Given the description of an element on the screen output the (x, y) to click on. 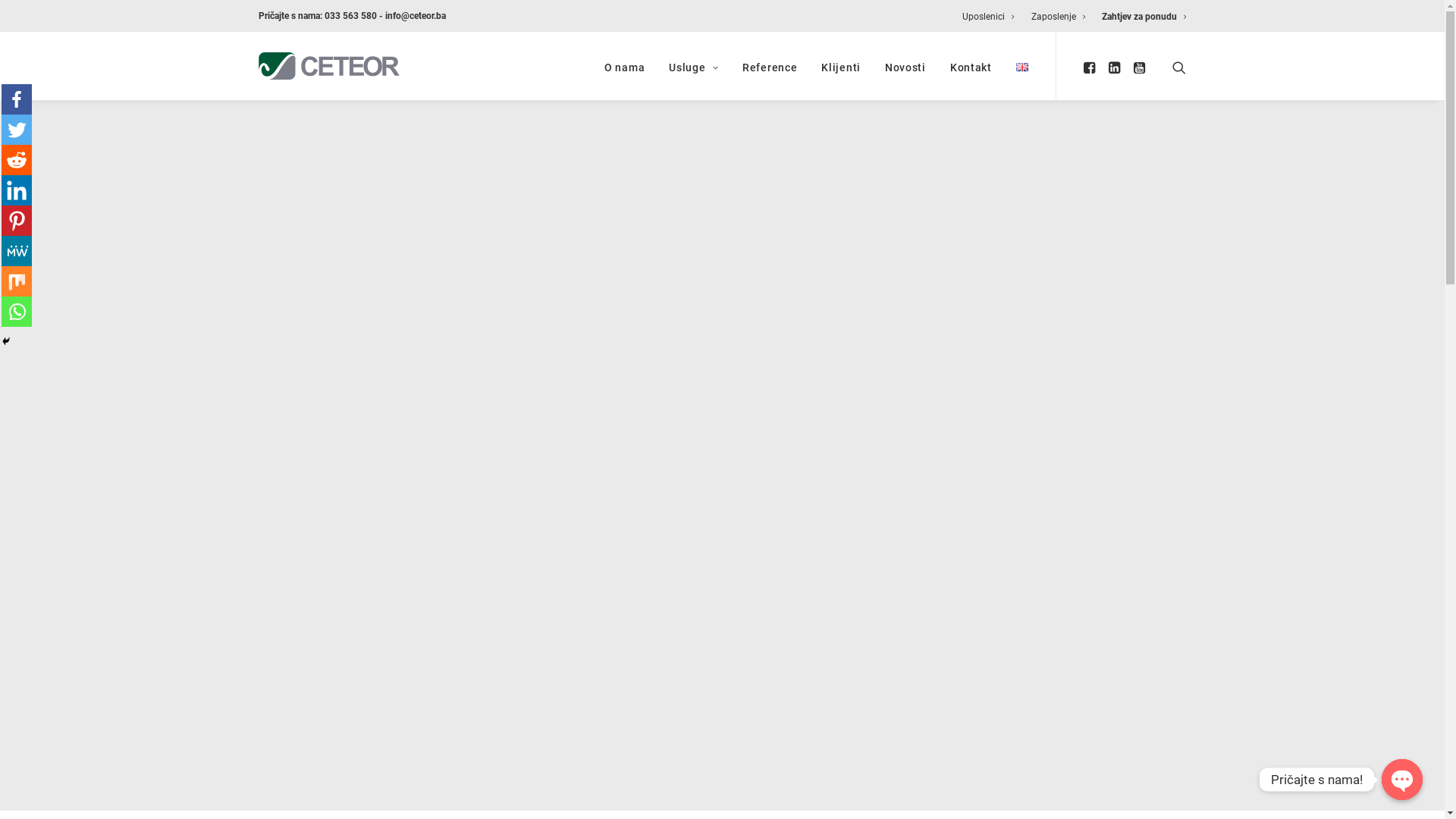
O nama Element type: text (624, 65)
Whatsapp Element type: hover (16, 311)
Mix Element type: hover (16, 281)
Usluge Element type: text (693, 65)
Kontakt Element type: text (970, 65)
Reference Element type: text (769, 65)
Twitter Element type: hover (16, 129)
Linkedin Element type: hover (16, 190)
Pinterest Element type: hover (16, 220)
Hide Element type: hover (6, 341)
Zaposlenje Element type: text (1058, 16)
MeWe Element type: hover (16, 250)
Reddit Element type: hover (16, 159)
Uposlenici Element type: text (991, 16)
Zahtjev za ponudu Element type: text (1140, 16)
info@ceteor.ba Element type: text (415, 15)
Novosti Element type: text (905, 65)
Klijenti Element type: text (840, 65)
Facebook Element type: hover (16, 99)
